Given the description of an element on the screen output the (x, y) to click on. 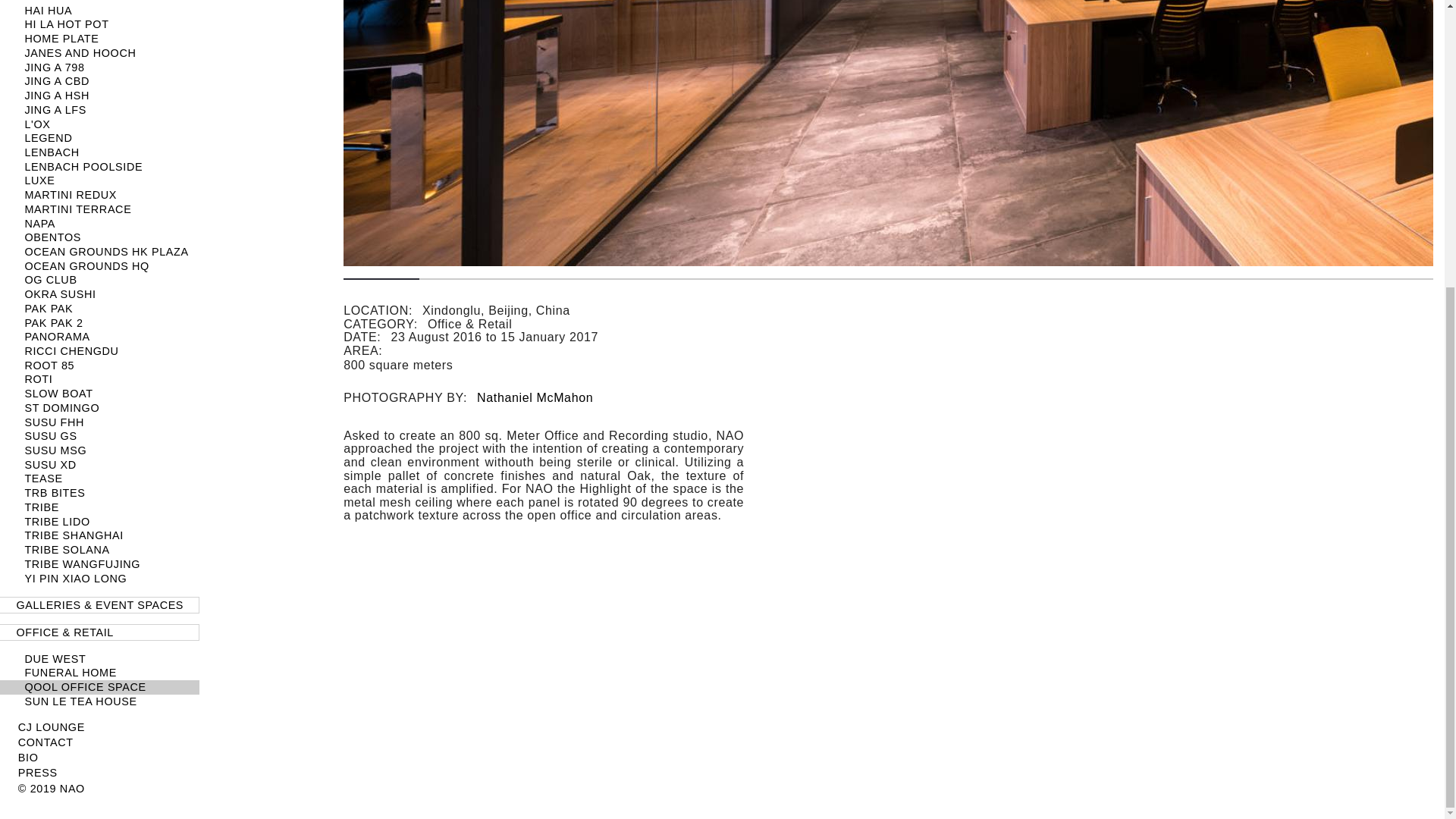
OCEAN GROUNDS HK PLAZA (99, 251)
LUXE (99, 180)
Press hits and releases (29, 772)
L'OX (99, 124)
HAI HUA (99, 11)
JANES AND HOOCH (99, 52)
JING A LFS (99, 110)
MARTINI REDUX (99, 195)
NAPA (99, 223)
LENBACH (99, 152)
HI LA HOT POT (99, 24)
LENBACH POOLSIDE (99, 166)
HOME PLATE (99, 38)
MARTINI TERRACE (99, 209)
OBENTOS (99, 237)
